Given the description of an element on the screen output the (x, y) to click on. 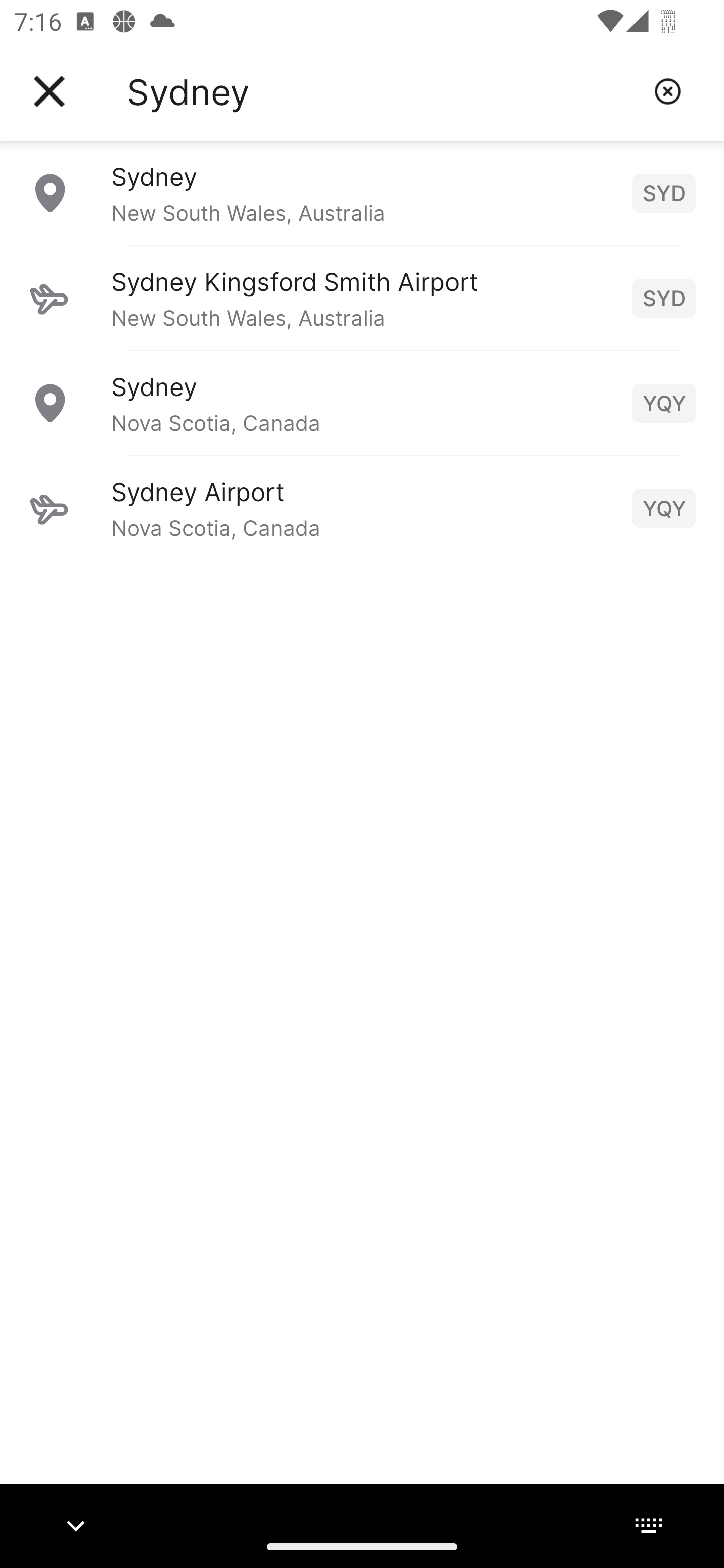
Sydney (382, 91)
Sydney New South Wales, Australia SYD (362, 192)
Sydney Nova Scotia, Canada YQY (362, 402)
Sydney Airport Nova Scotia, Canada YQY (362, 507)
